Given the description of an element on the screen output the (x, y) to click on. 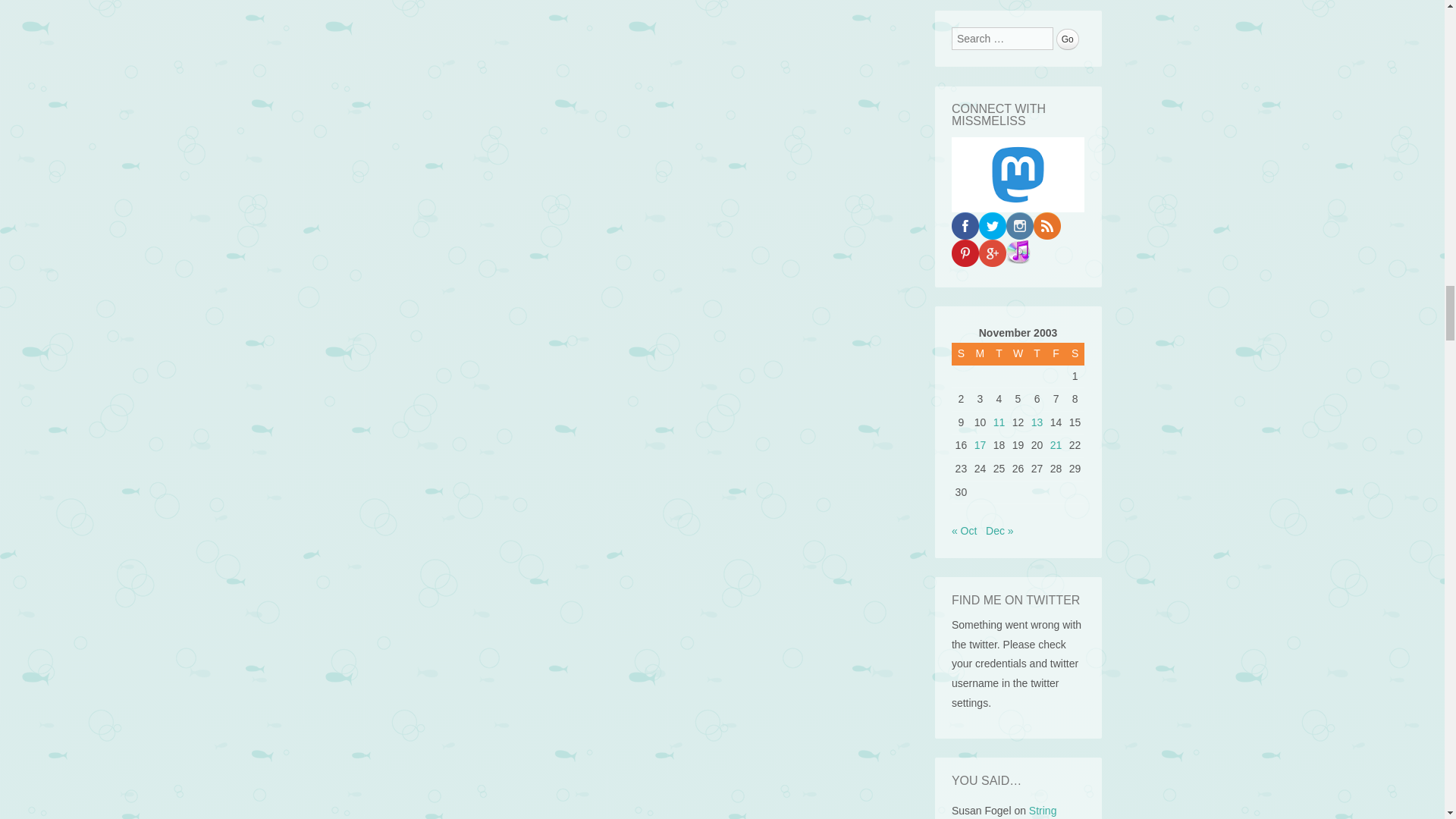
Go (1067, 38)
